Given the description of an element on the screen output the (x, y) to click on. 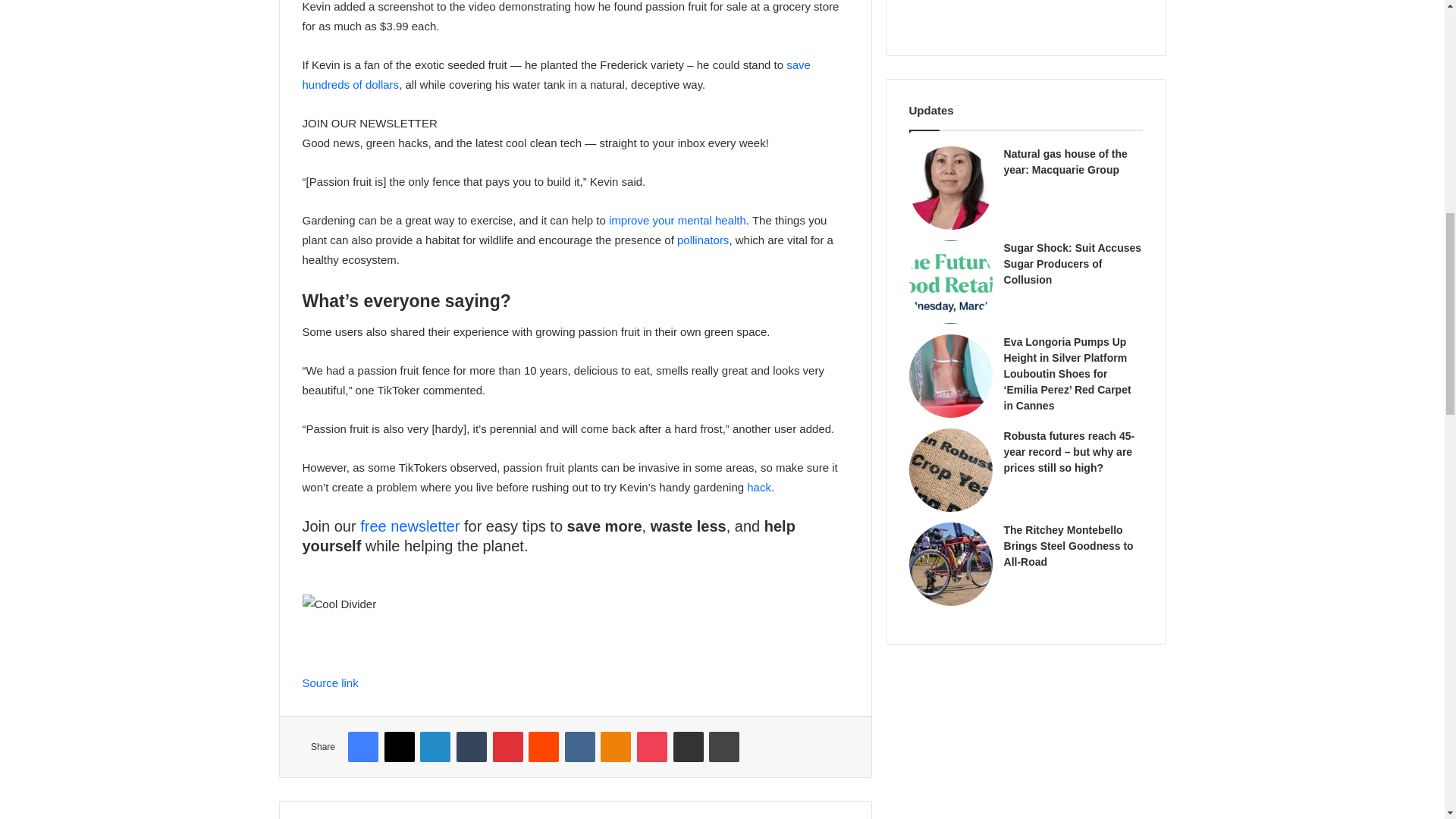
LinkedIn (434, 747)
X (399, 747)
How to make your yard a friendlier place for pollinators (703, 239)
Hacks (758, 486)
Facebook (362, 747)
